Given the description of an element on the screen output the (x, y) to click on. 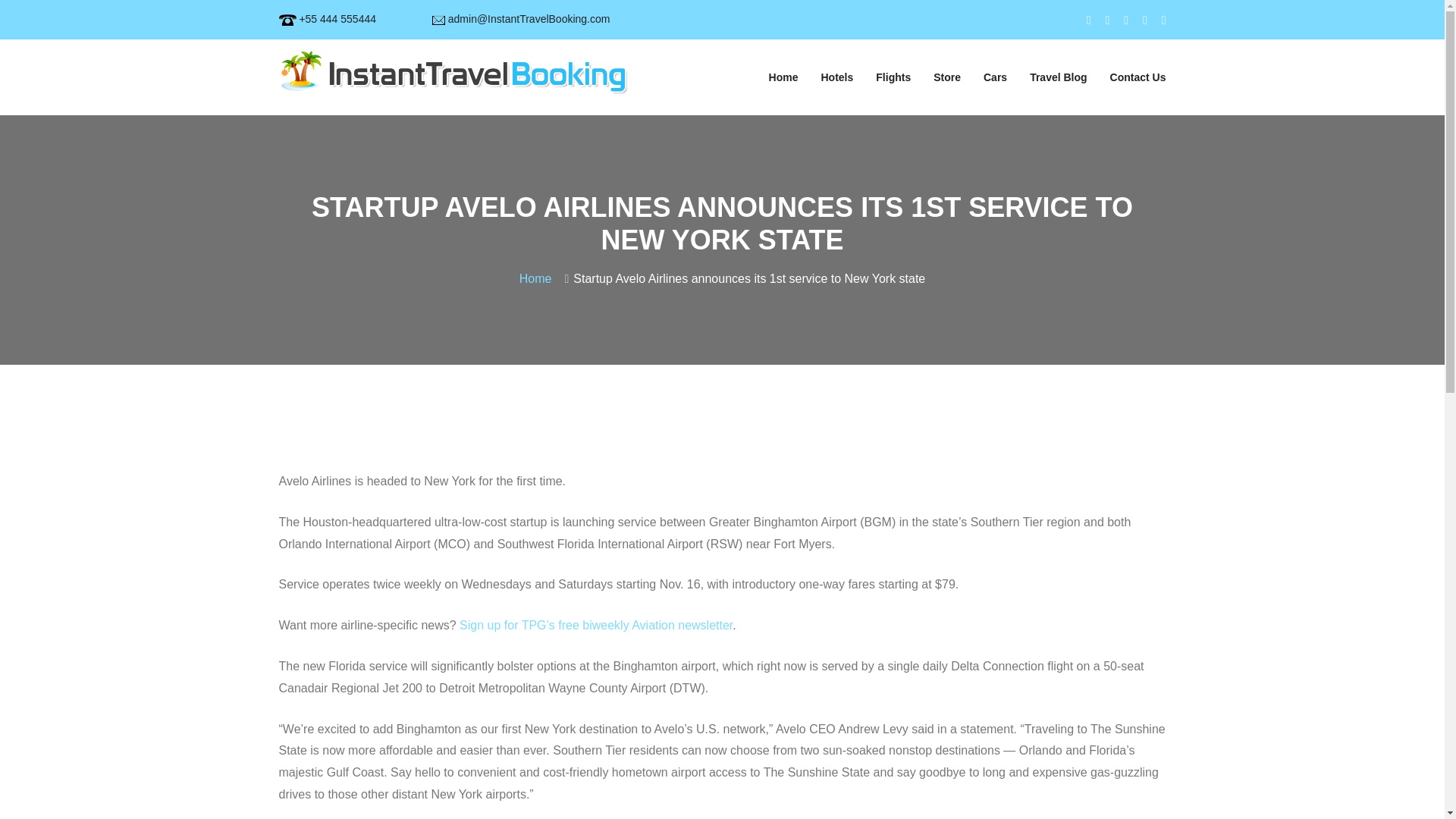
Home   (539, 278)
travel (453, 71)
